Given the description of an element on the screen output the (x, y) to click on. 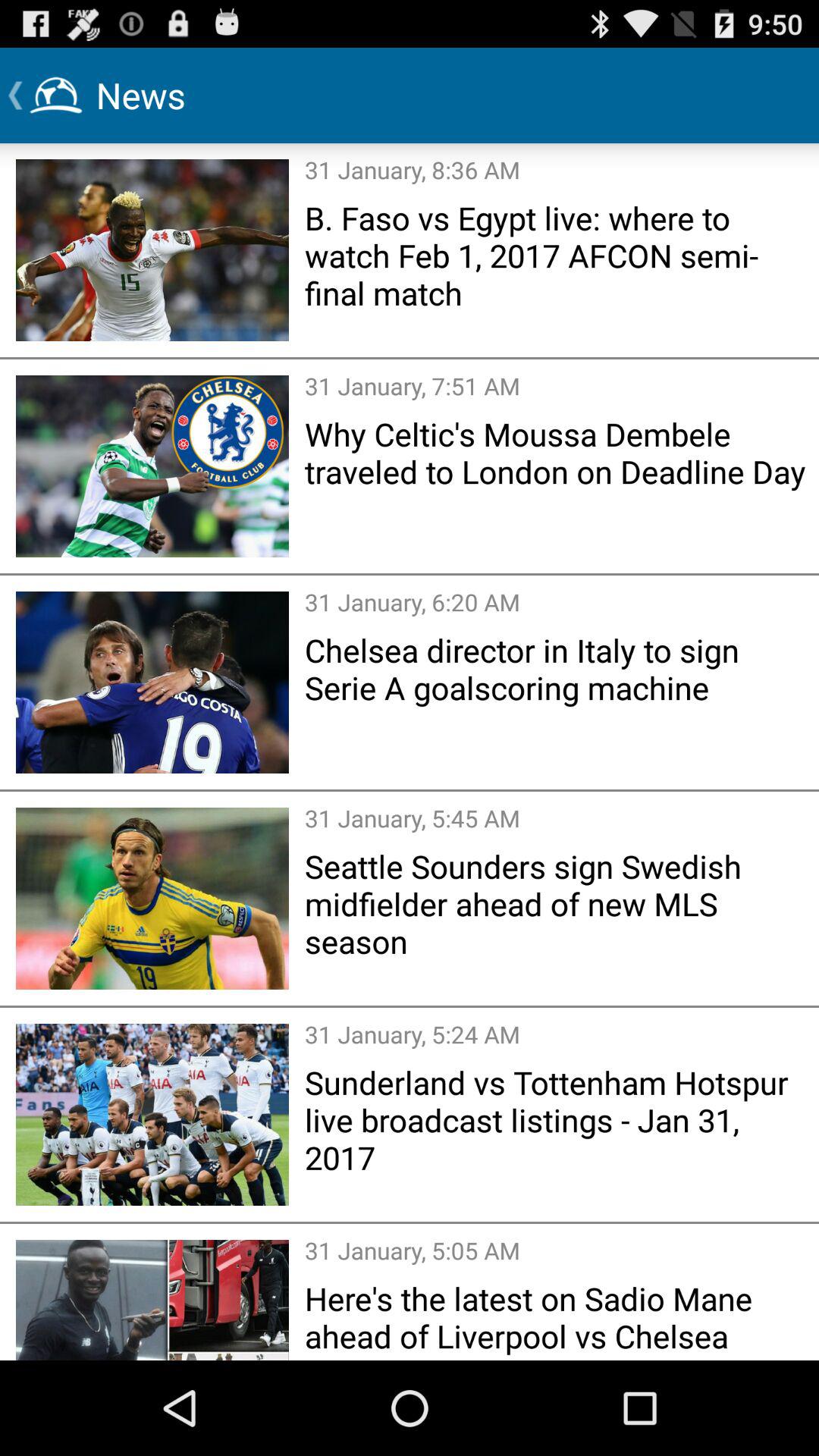
choose the sunderland vs tottenham app (556, 1119)
